Given the description of an element on the screen output the (x, y) to click on. 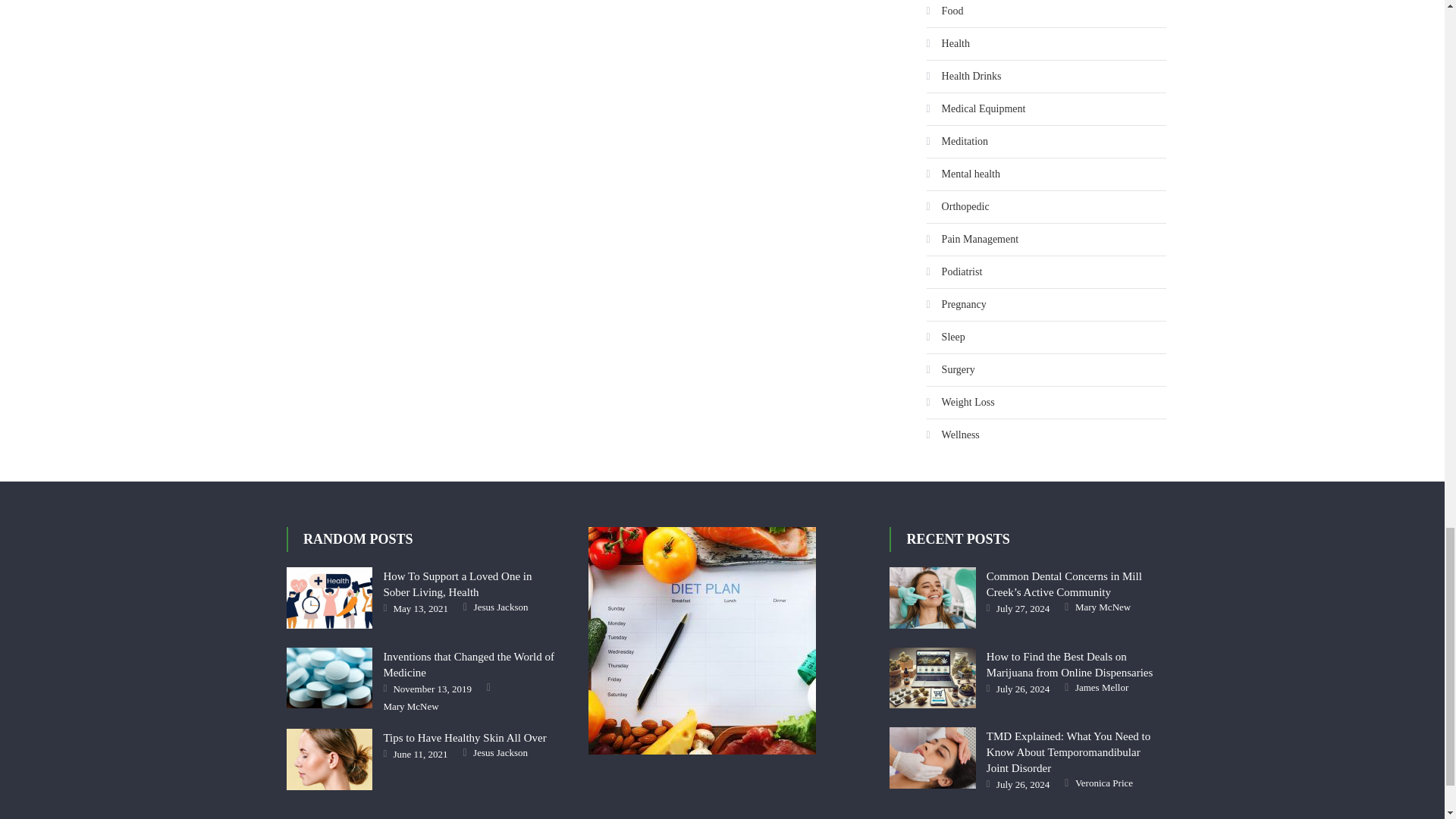
Inventions that Changed the World of Medicine (329, 678)
Tips to Have Healthy Skin All Over (329, 759)
How To Support a Loved One in Sober Living, Health (329, 597)
